Given the description of an element on the screen output the (x, y) to click on. 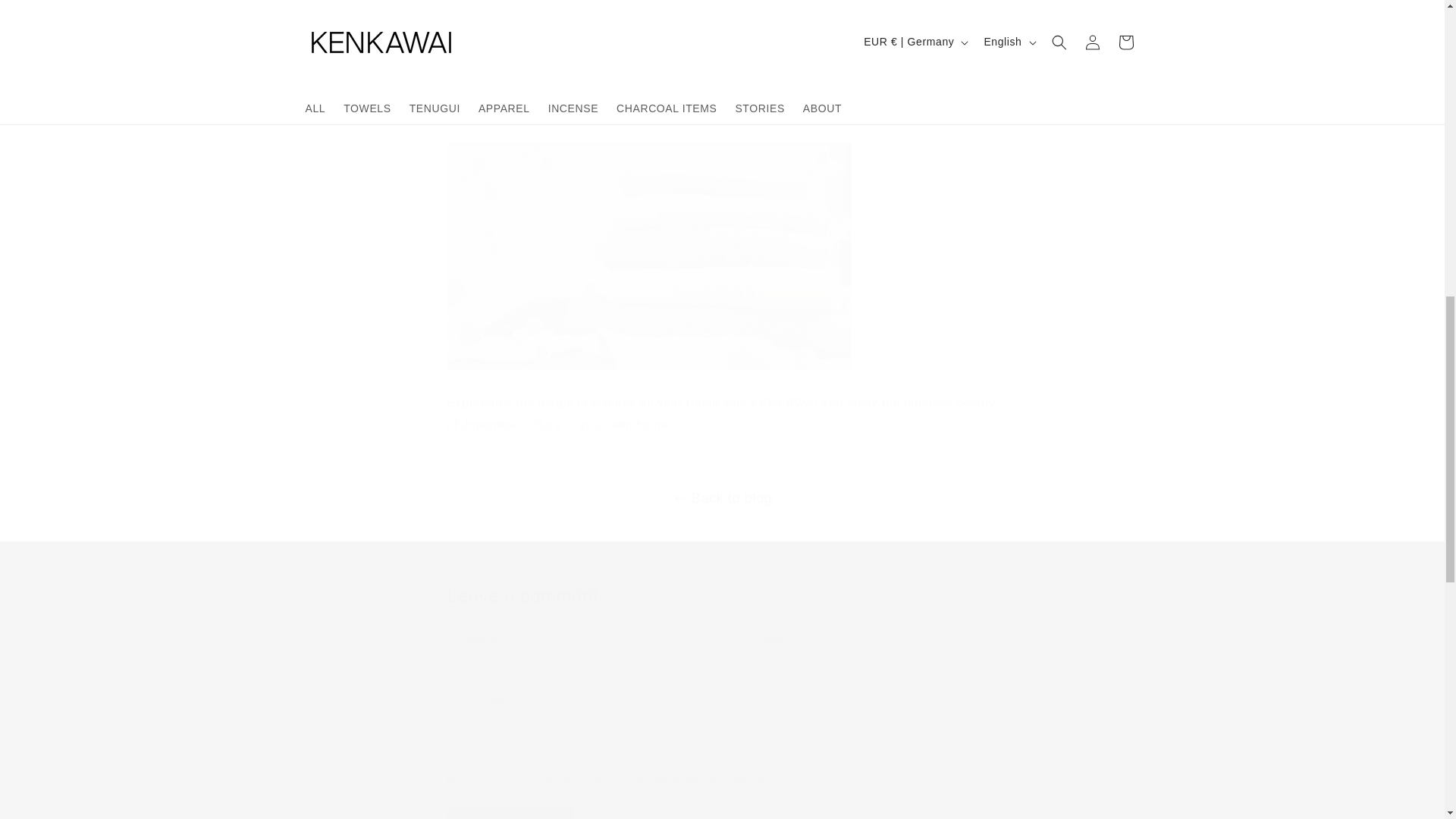
Post comment (510, 813)
